Given the description of an element on the screen output the (x, y) to click on. 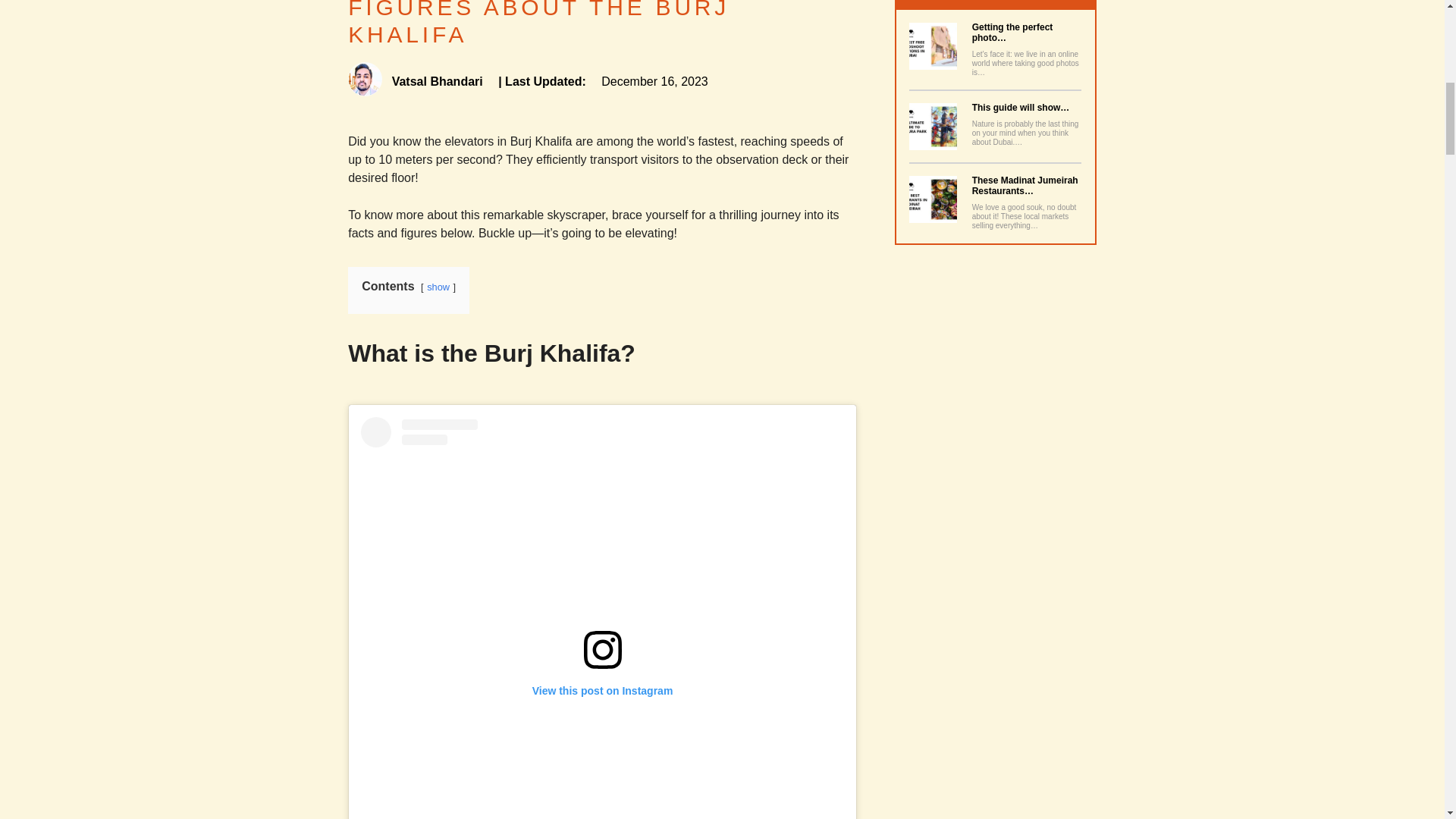
View all posts by Vatsal Bhandari (416, 81)
